Given the description of an element on the screen output the (x, y) to click on. 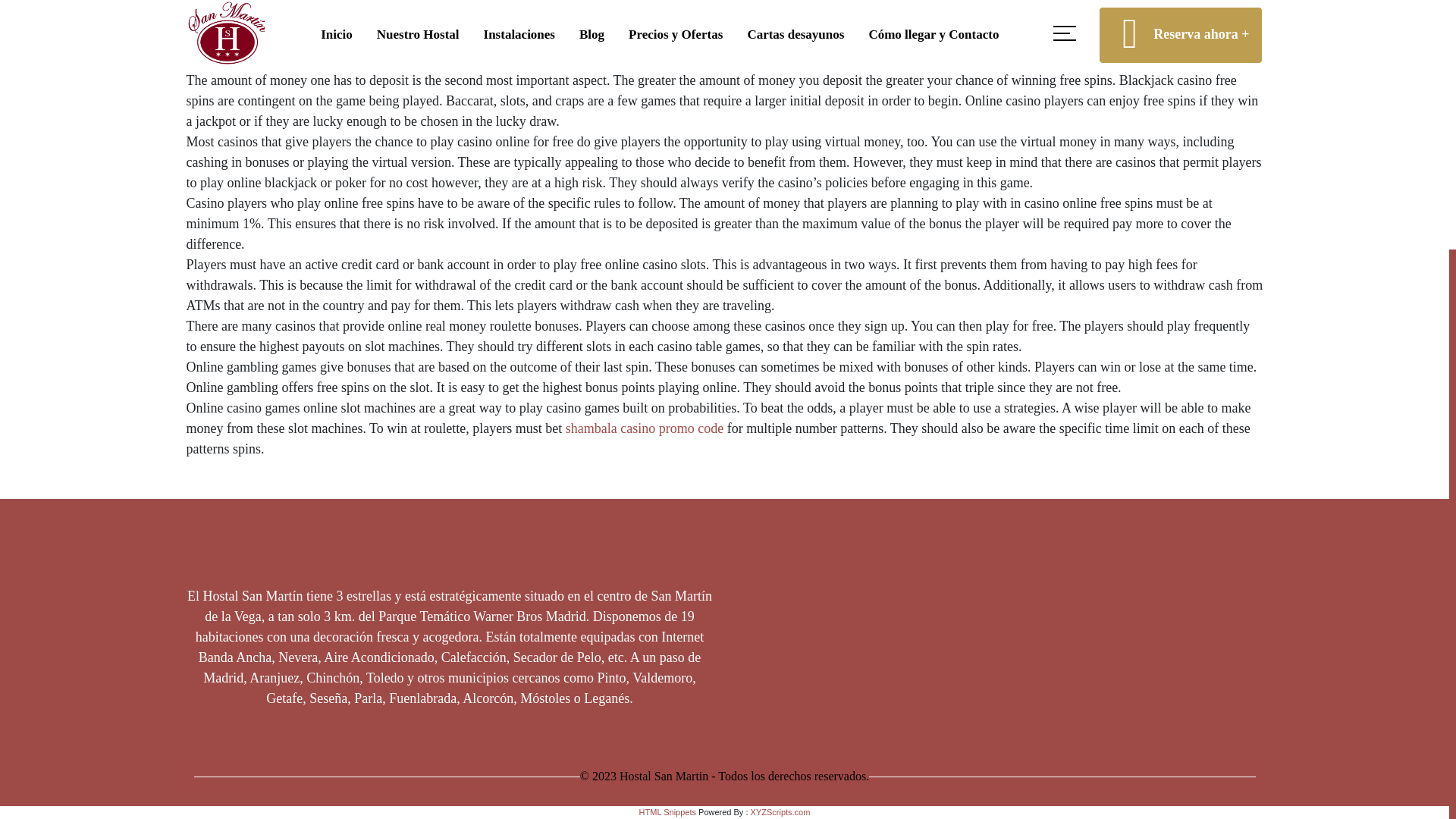
Blog (387, 739)
Instalaciones (336, 739)
Insert HTML Snippet Wordpress Plugin (667, 811)
Precios y Ofertas (447, 739)
shambala casino promo code (644, 427)
Nuestro Hostal (257, 739)
HTML Snippets (667, 811)
Inicio (200, 739)
Cartas desayunos (548, 739)
XYZScripts.com (780, 811)
